Given the description of an element on the screen output the (x, y) to click on. 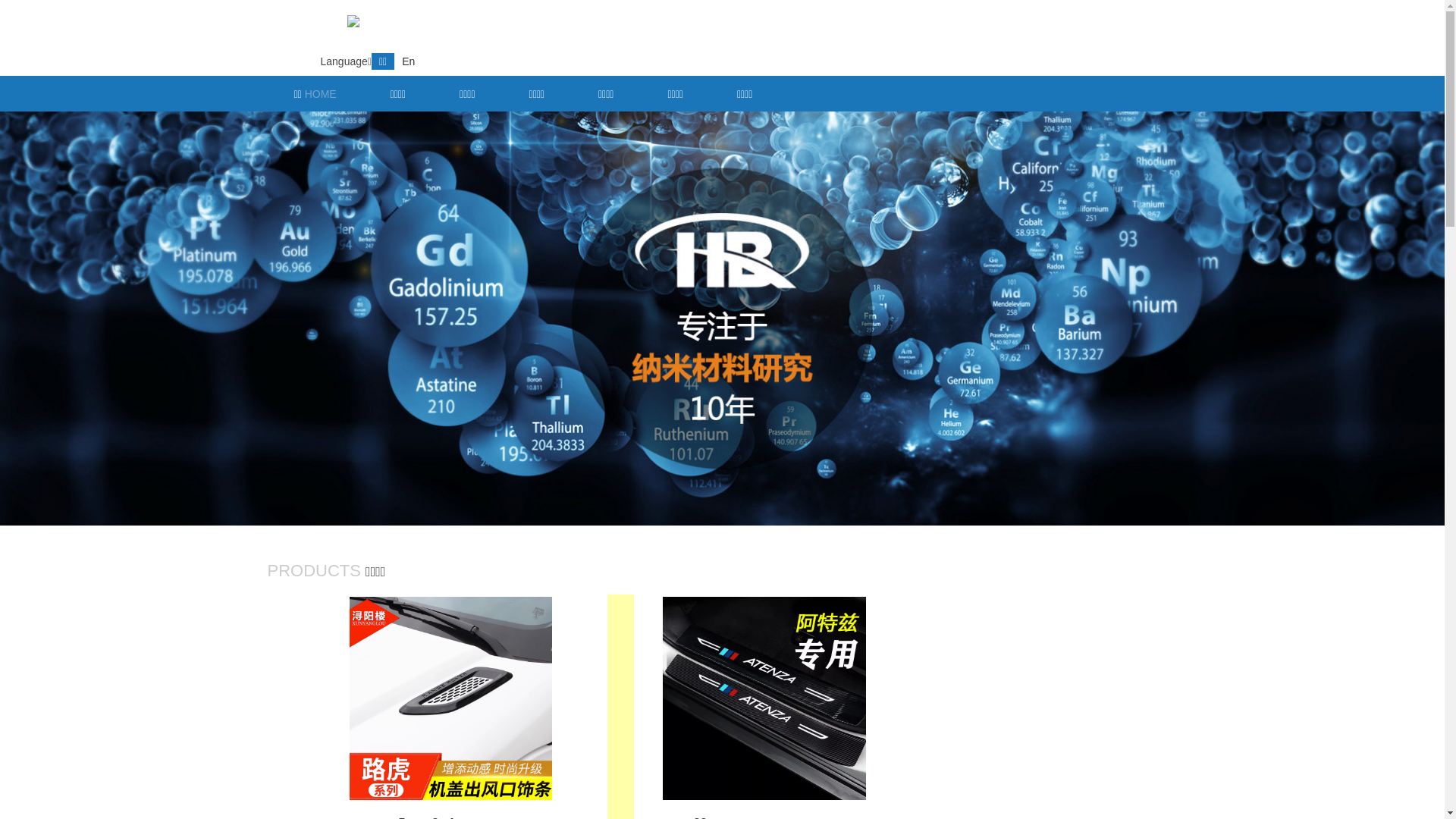
En Element type: text (408, 61)
